Given the description of an element on the screen output the (x, y) to click on. 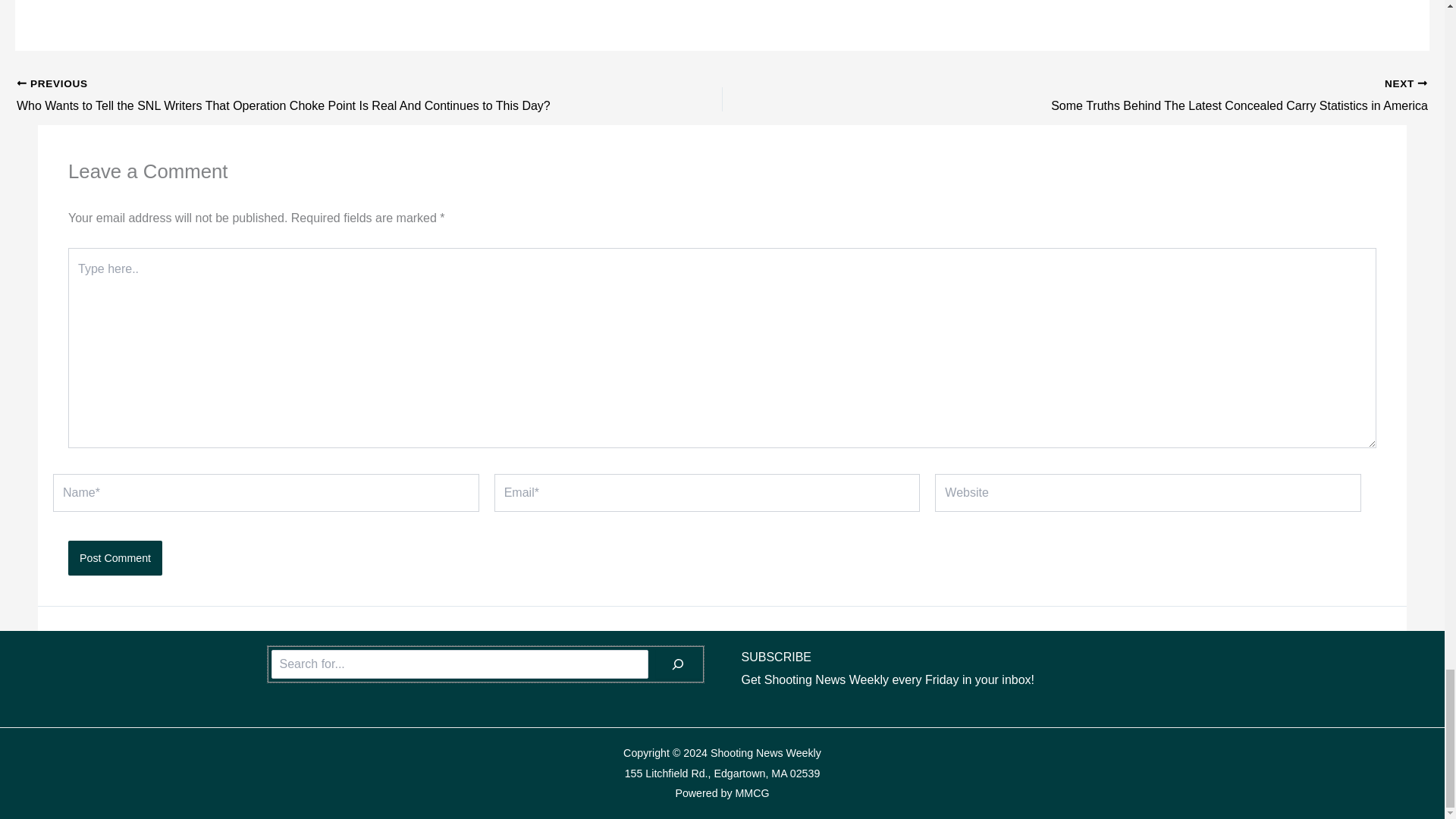
Post Comment (114, 557)
